Given the description of an element on the screen output the (x, y) to click on. 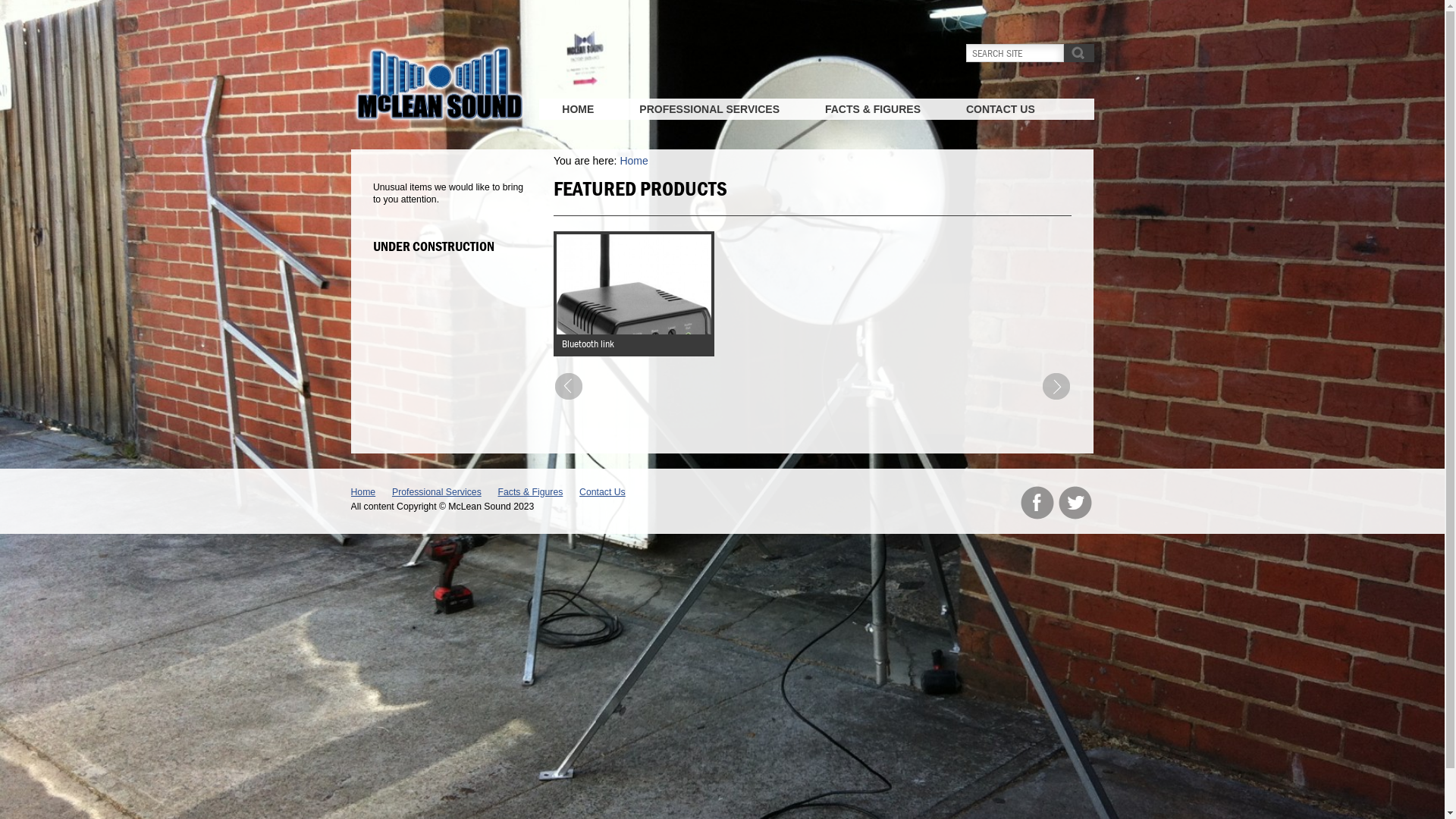
Facts & Figures Element type: text (530, 491)
HOME Element type: text (577, 109)
Twitter Element type: text (1074, 502)
Home Element type: text (362, 491)
Facebook Element type: text (1036, 502)
Search Element type: text (1078, 52)
Professional Services Element type: text (436, 491)
Next Element type: text (1056, 385)
Enter the terms you wish to search for. Element type: hover (1014, 52)
FACTS & FIGURES Element type: text (872, 109)
Previous Element type: text (568, 385)
Bluetooth link Element type: text (587, 343)
Contact Us Element type: text (602, 491)
PROFESSIONAL SERVICES Element type: text (709, 109)
CONTACT US Element type: text (1000, 109)
Home Element type: text (633, 160)
